Given the description of an element on the screen output the (x, y) to click on. 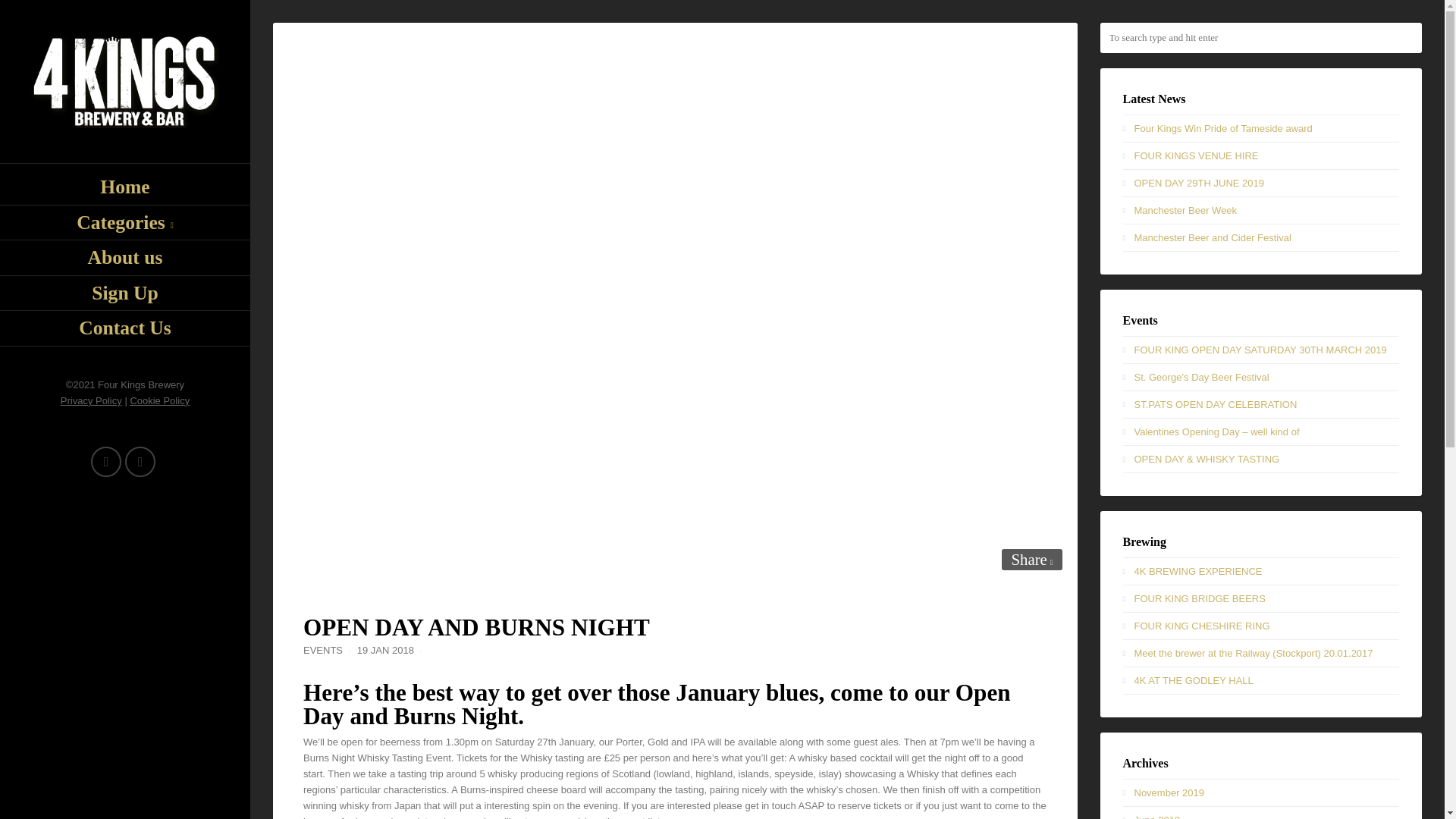
FOUR KING BRIDGE BEERS (1199, 598)
Manchester Beer and Cider Festival (1212, 237)
EVENTS (322, 650)
4K AT THE GODLEY HALL (1193, 680)
FOUR KINGS VENUE HIRE (1196, 155)
OPEN DAY 29TH JUNE 2019 (1198, 183)
Categories (125, 222)
Facebook (140, 461)
Home (125, 187)
Cookie Policy (159, 400)
